Given the description of an element on the screen output the (x, y) to click on. 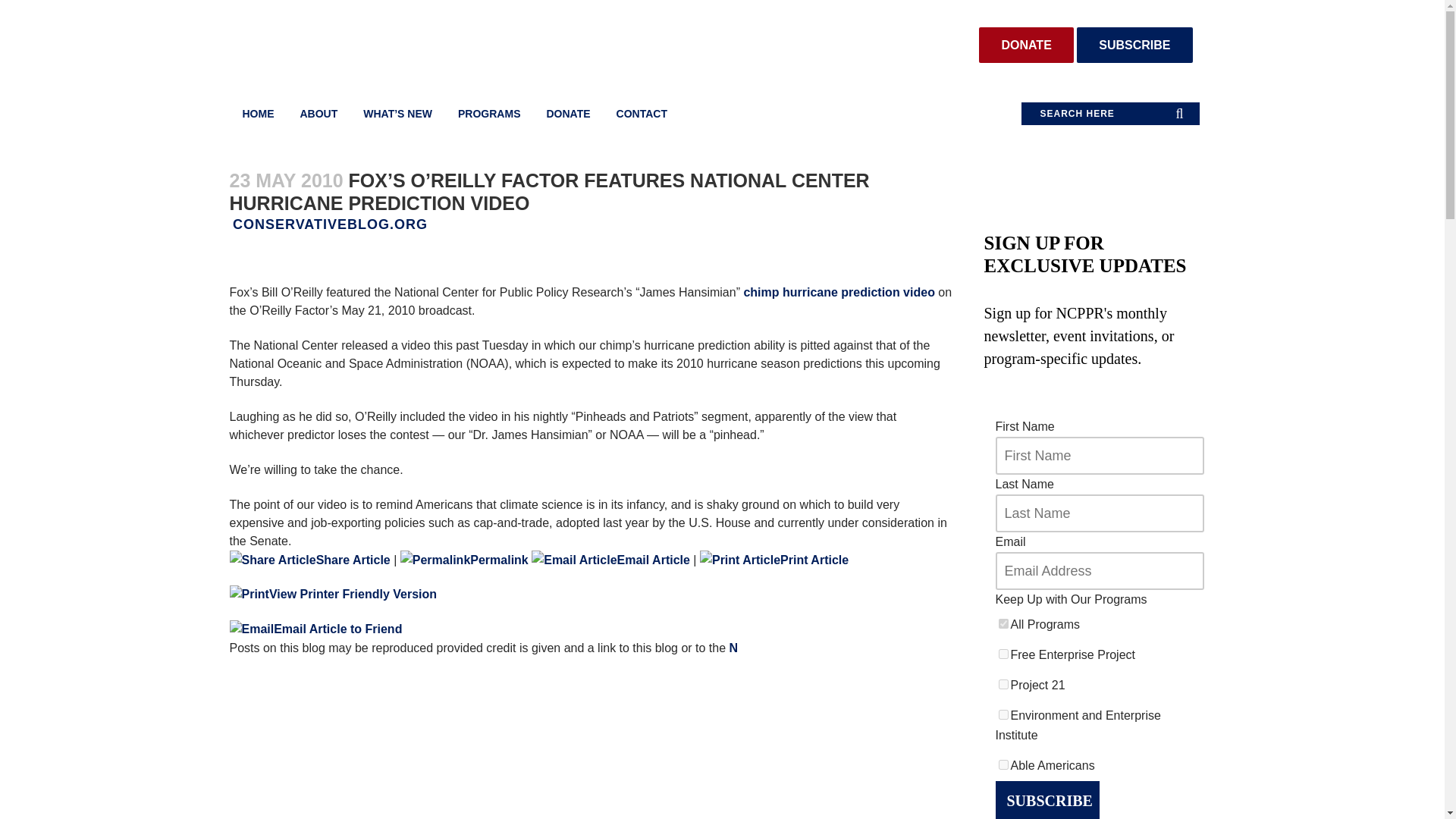
chimp hurricane prediction video (838, 291)
Able Americans (1002, 764)
Permalink (435, 560)
ABOUT (318, 113)
View Printer Friendly Version (332, 594)
SUBSCRIBE (1046, 800)
PROGRAMS (488, 113)
Share Article (271, 560)
DONATE (1025, 45)
Print Article (774, 559)
